Given the description of an element on the screen output the (x, y) to click on. 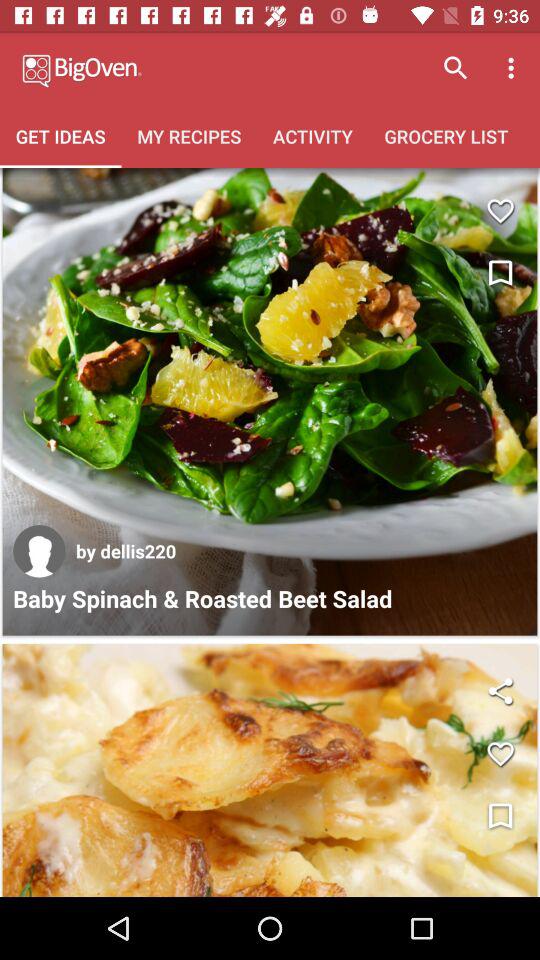
write the notes (500, 273)
